Given the description of an element on the screen output the (x, y) to click on. 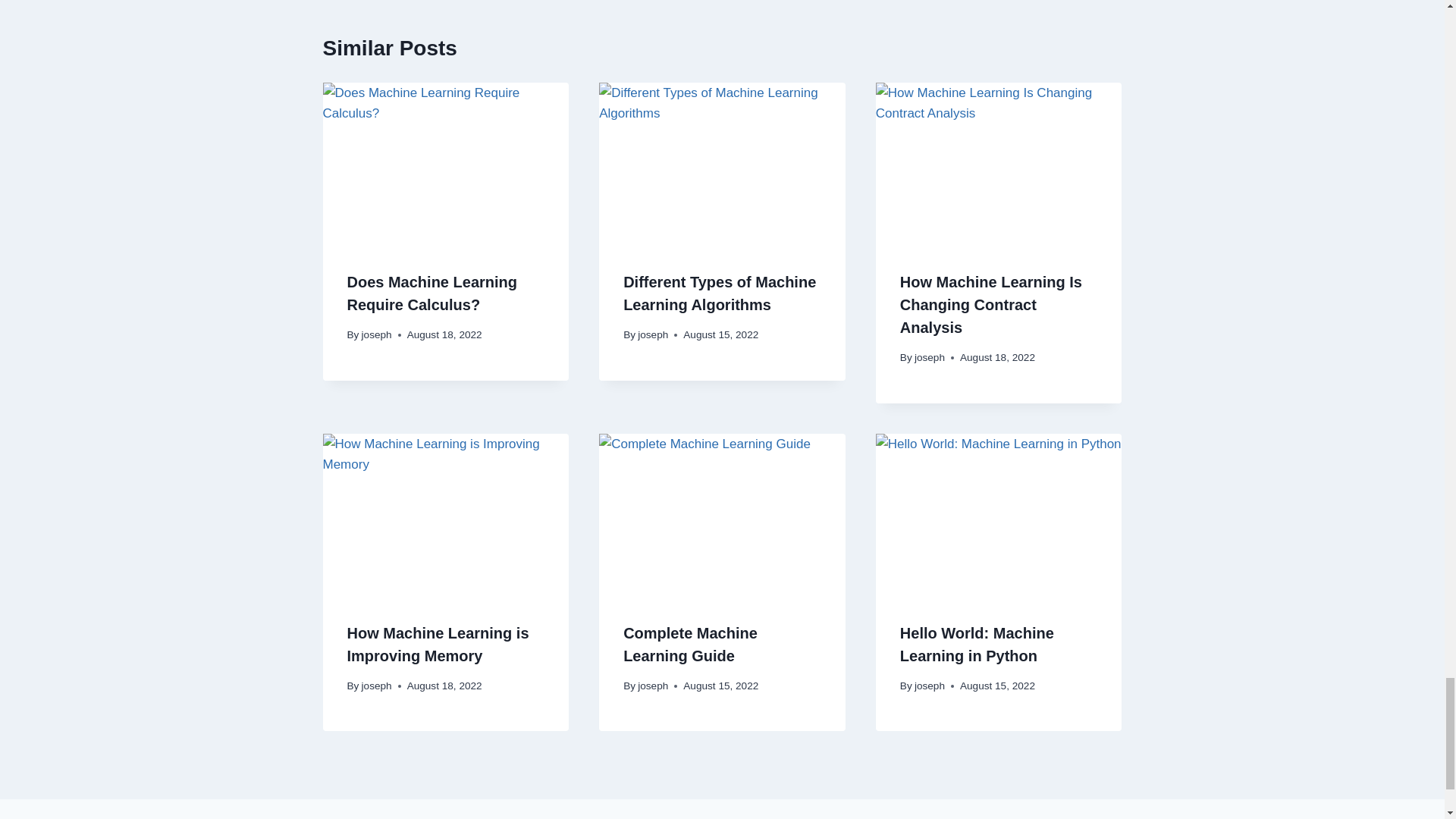
How Machine Learning Is Changing Contract Analysis (990, 304)
Different Types of Machine Learning Algorithms (719, 292)
joseph (929, 357)
joseph (652, 334)
joseph (376, 334)
Does Machine Learning Require Calculus? (432, 292)
